Given the description of an element on the screen output the (x, y) to click on. 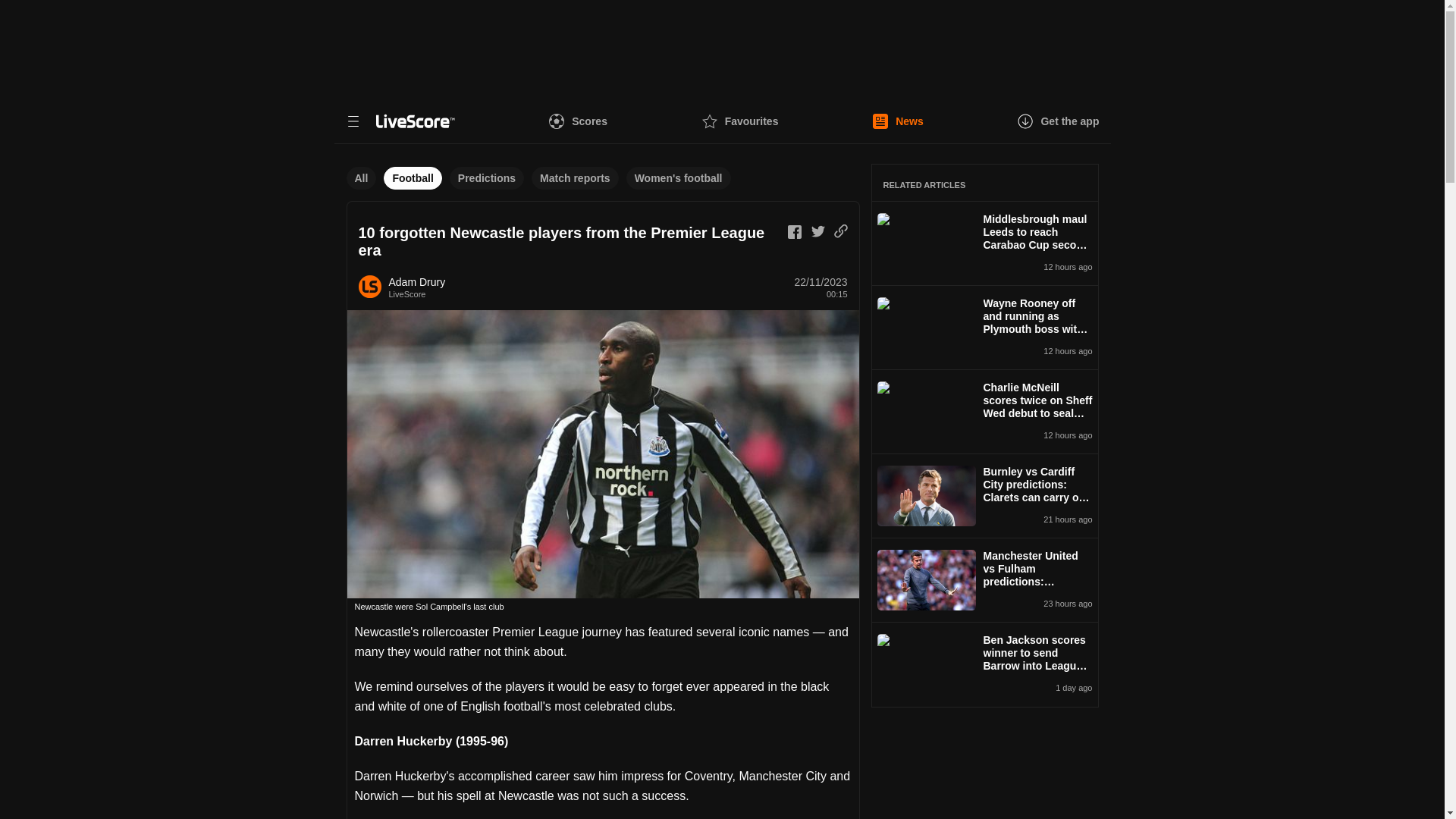
Football (412, 178)
Predictions (486, 178)
All (360, 178)
Favourites (739, 120)
Middlesbrough maul Leeds to reach Carabao Cup second round (1037, 234)
News (897, 120)
21 hours ago (1037, 519)
12 hours ago (1037, 351)
Scores (577, 120)
